Given the description of an element on the screen output the (x, y) to click on. 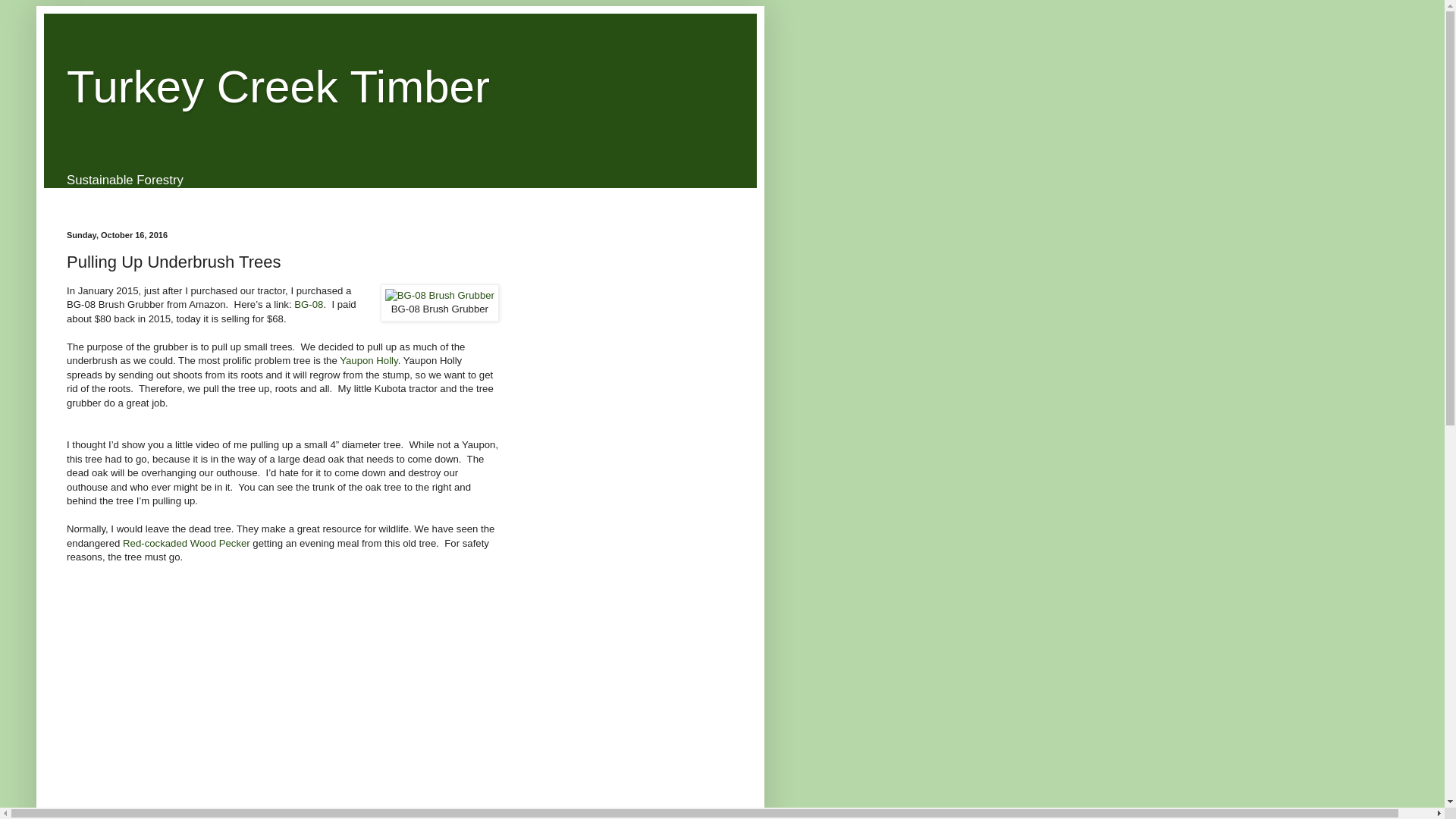
BG-08 Brush Grubber (440, 295)
Yaupon Holly (368, 360)
Red-cockaded Wood Pecker (186, 542)
Turkey Creek Timber (277, 86)
BG-08 (308, 304)
